Given the description of an element on the screen output the (x, y) to click on. 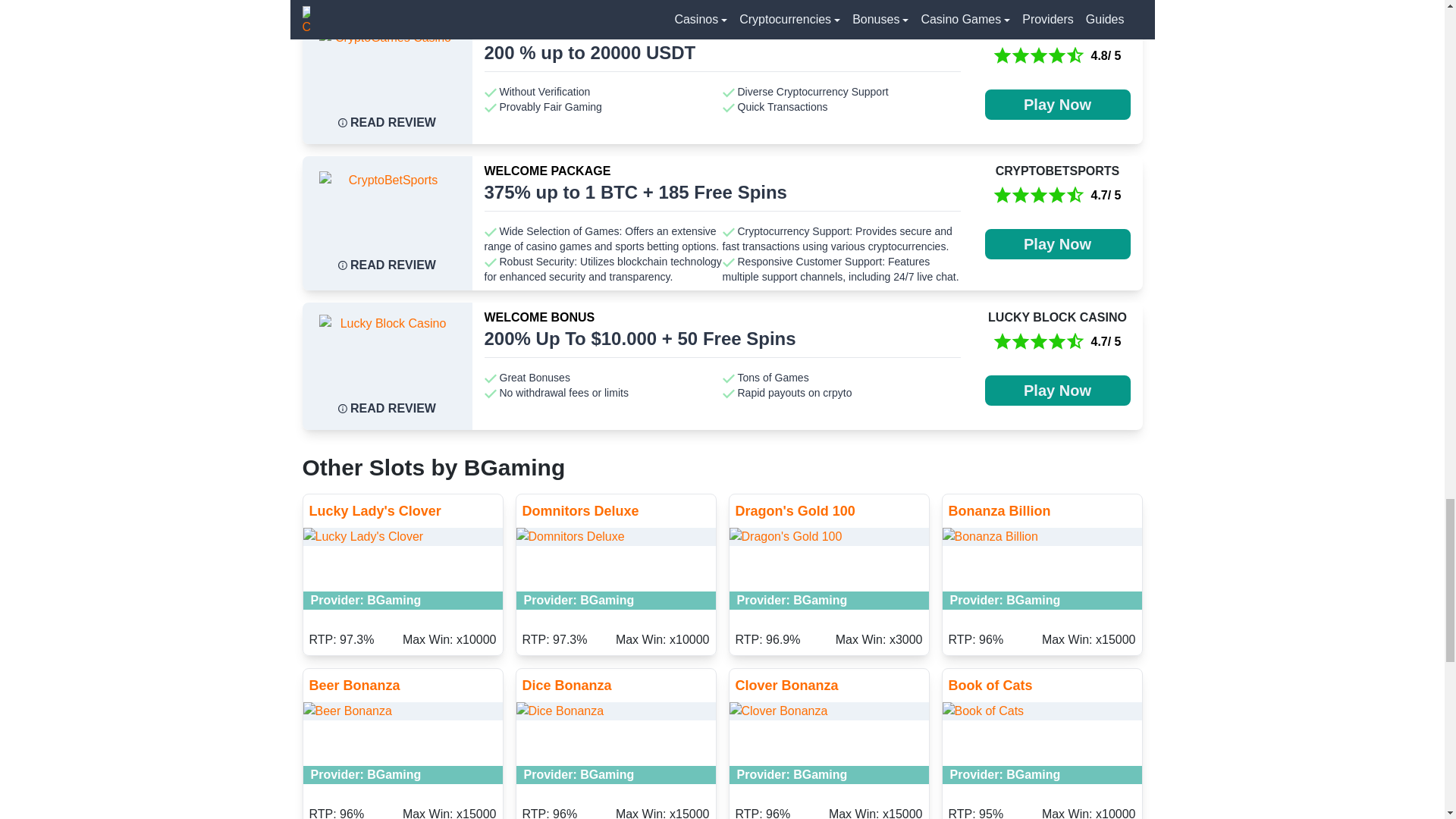
full star (1038, 55)
full star (1001, 55)
full star (1020, 55)
